Given the description of an element on the screen output the (x, y) to click on. 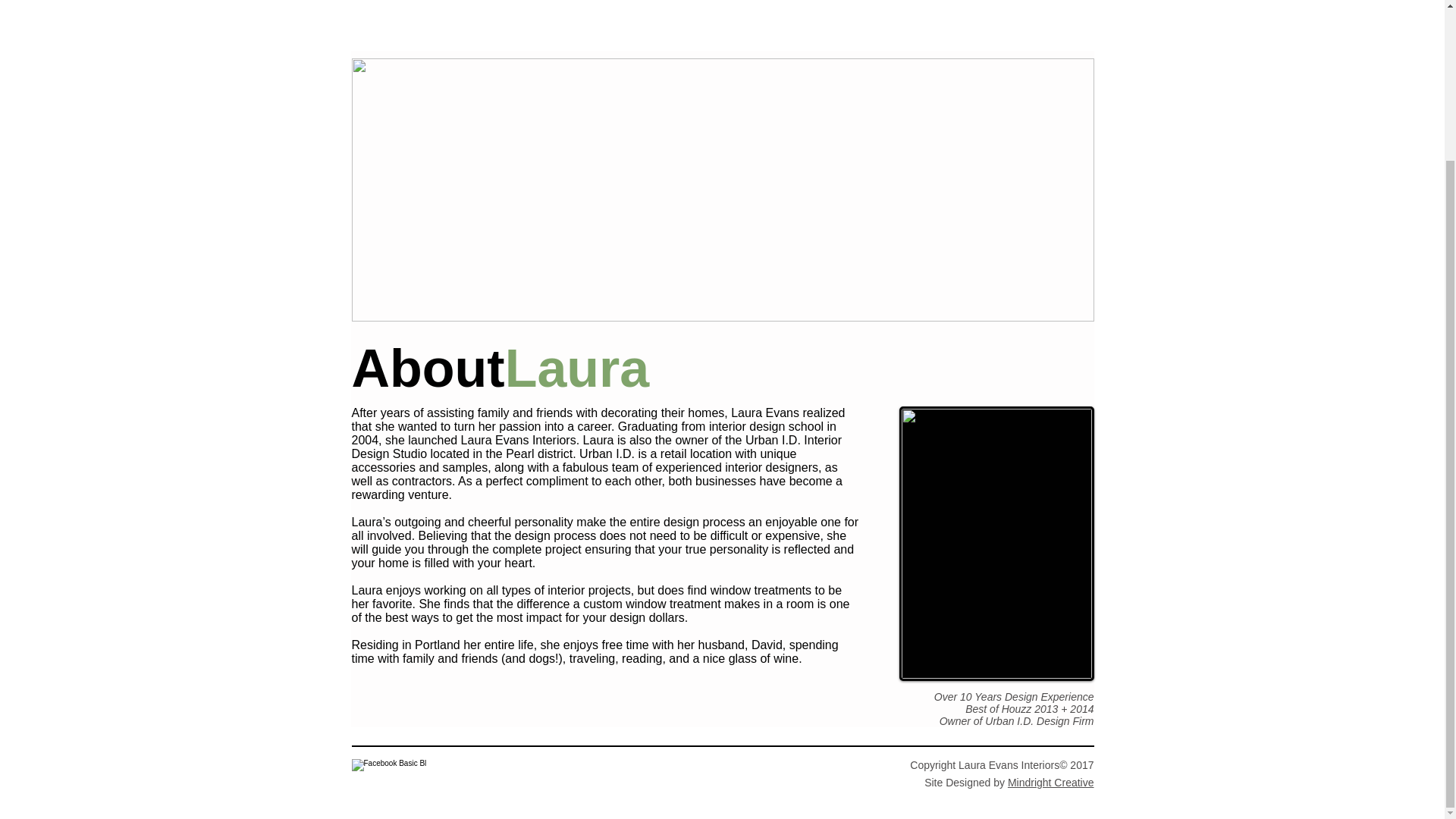
Mindright Creative (1050, 782)
Facebook Like (414, 770)
